Given the description of an element on the screen output the (x, y) to click on. 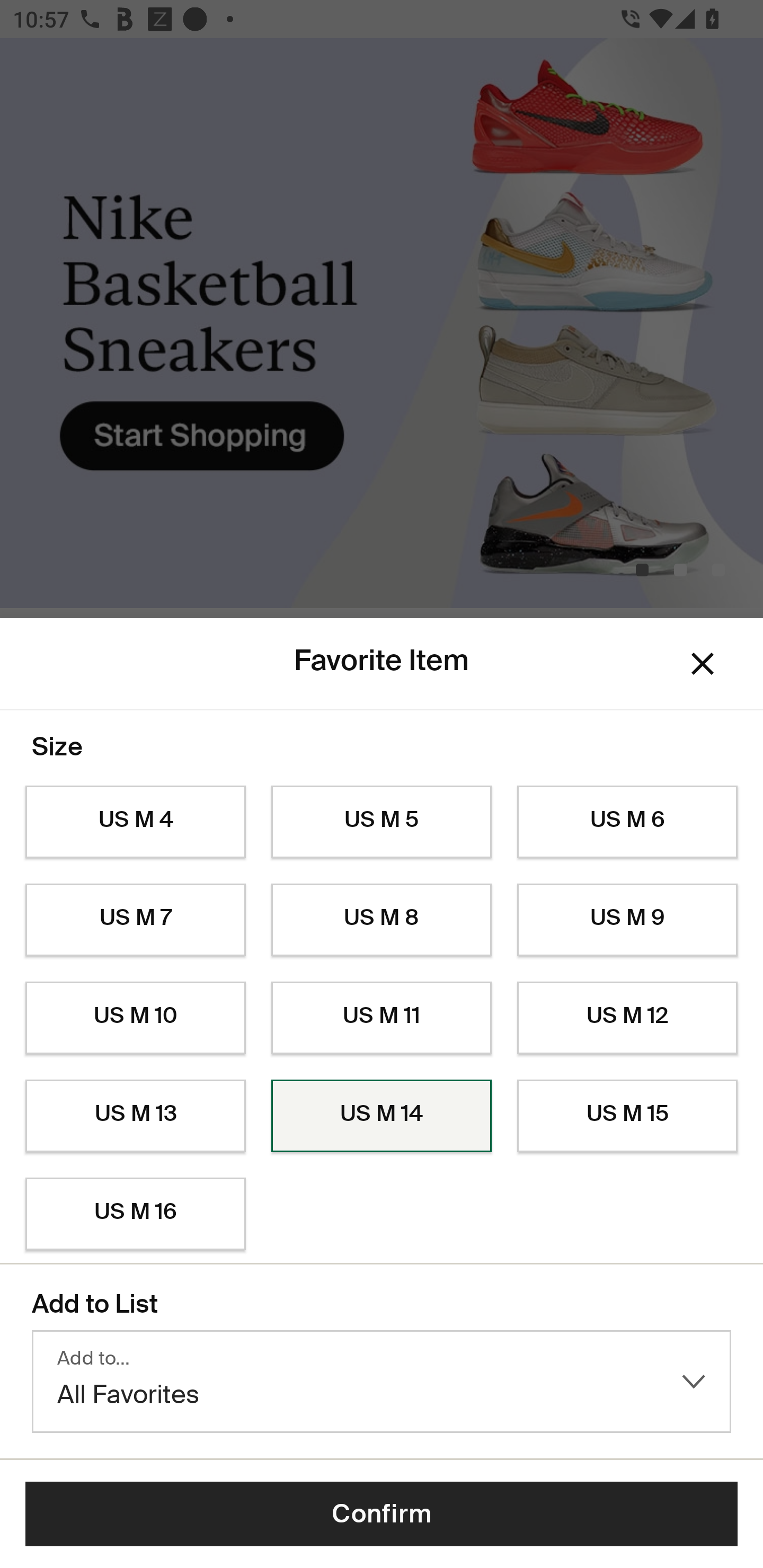
Dismiss (702, 663)
US M 4 (135, 822)
US M 5 (381, 822)
US M 6 (627, 822)
US M 7 (135, 919)
US M 8 (381, 919)
US M 9 (627, 919)
US M 10 (135, 1018)
US M 11 (381, 1018)
US M 12 (627, 1018)
US M 13 (135, 1116)
US M 14 (381, 1116)
US M 15 (627, 1116)
US M 16 (135, 1214)
Add to… All Favorites (381, 1381)
Confirm (381, 1513)
